Given the description of an element on the screen output the (x, y) to click on. 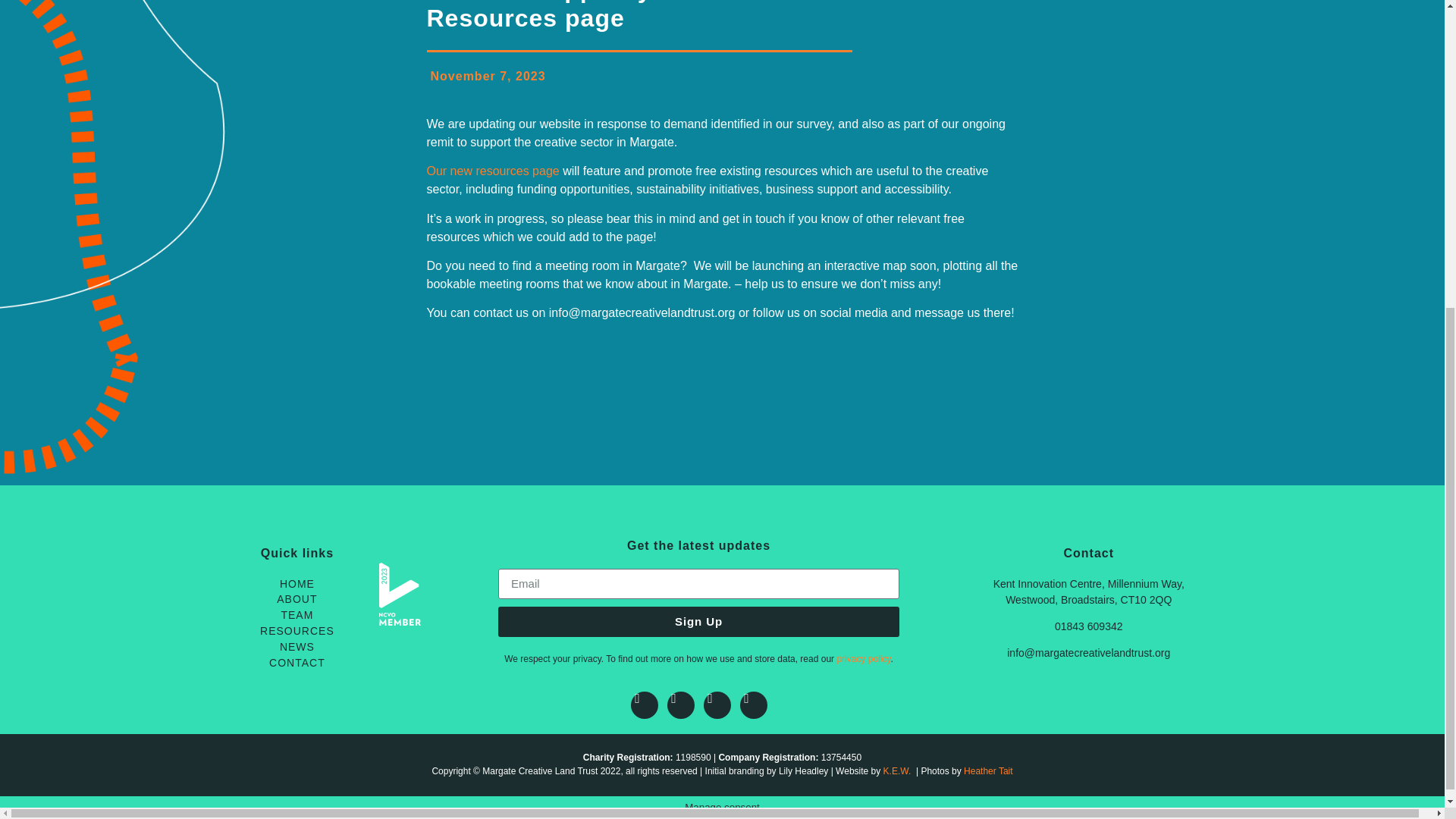
ABOUT (295, 599)
RESOURCES (295, 631)
CONTACT (295, 662)
TEAM (295, 615)
NEWS (295, 647)
Our new resources page (492, 170)
HOME (295, 584)
